Given the description of an element on the screen output the (x, y) to click on. 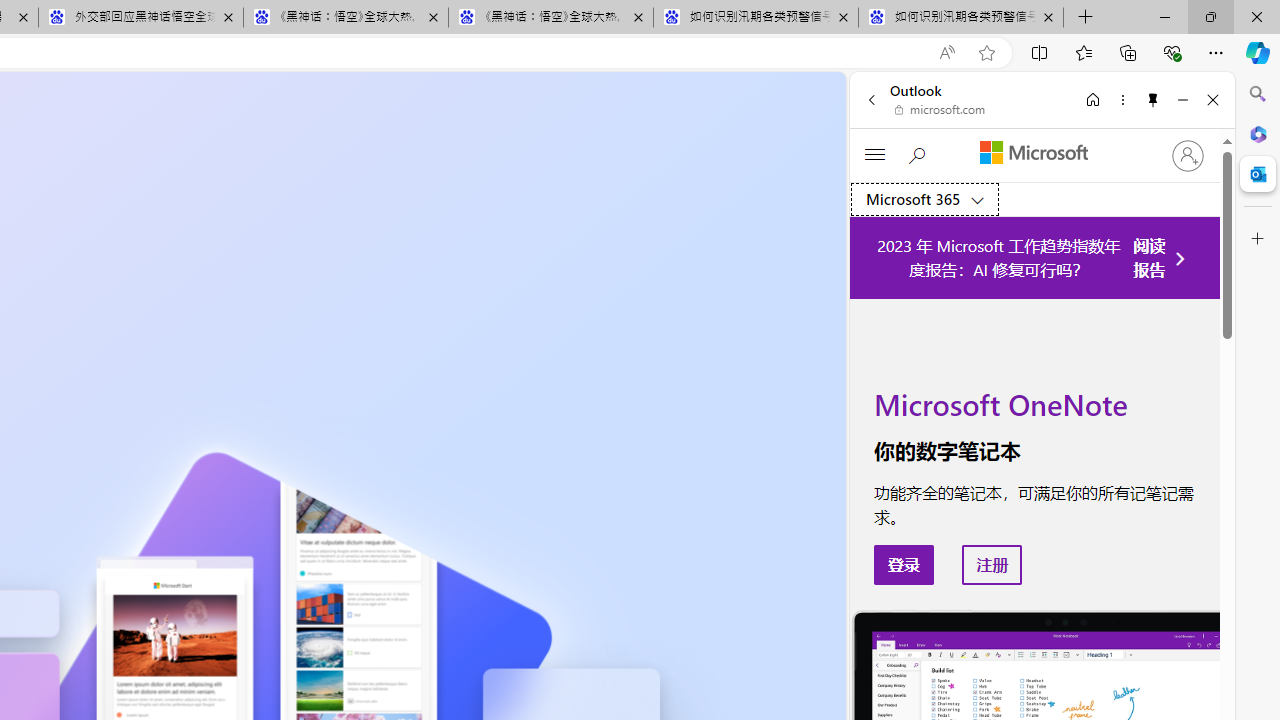
Microsoft 365 (1258, 133)
Unpin side pane (1153, 99)
More options (1122, 99)
